Given the description of an element on the screen output the (x, y) to click on. 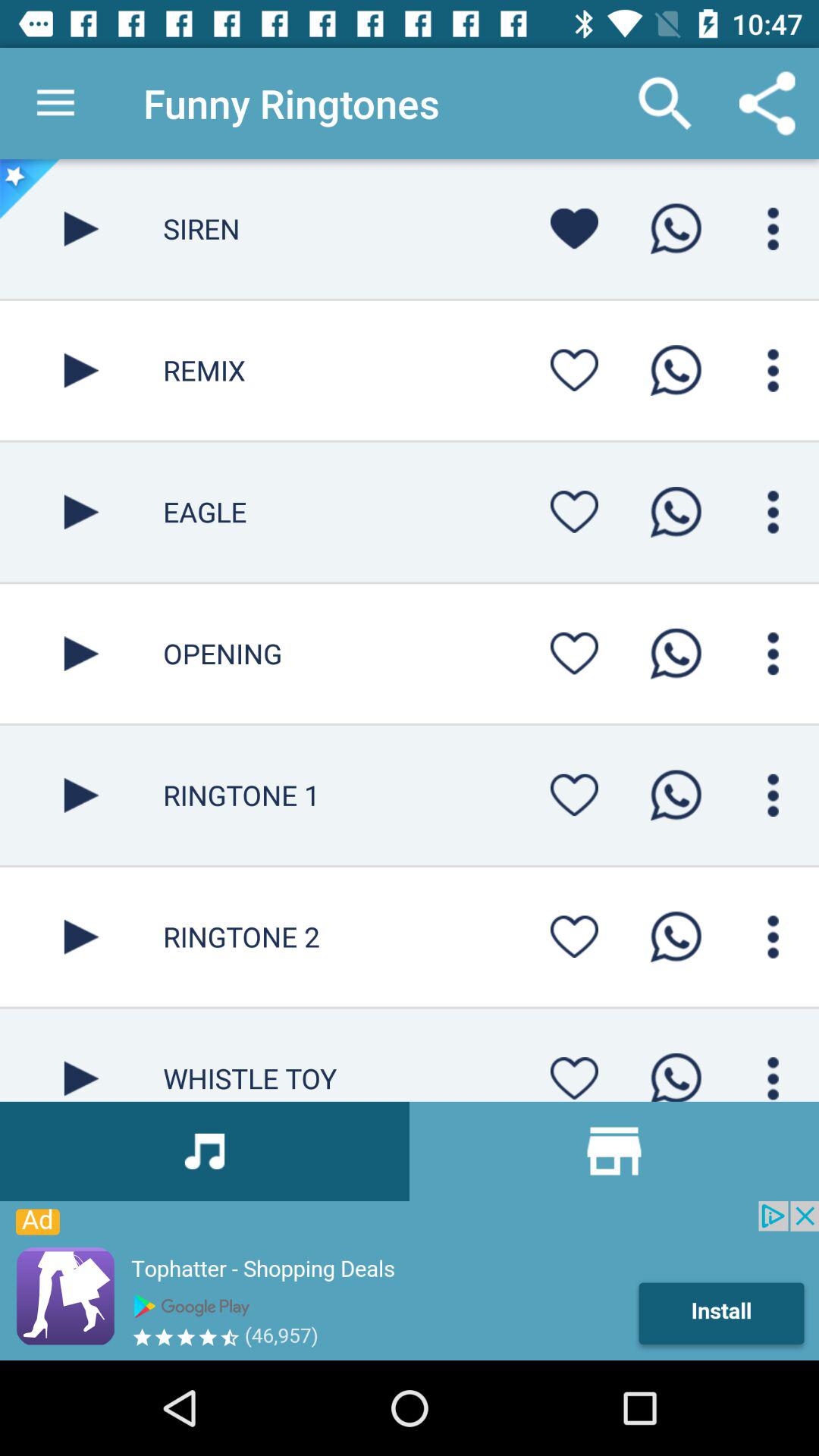
whistle (81, 1054)
